Given the description of an element on the screen output the (x, y) to click on. 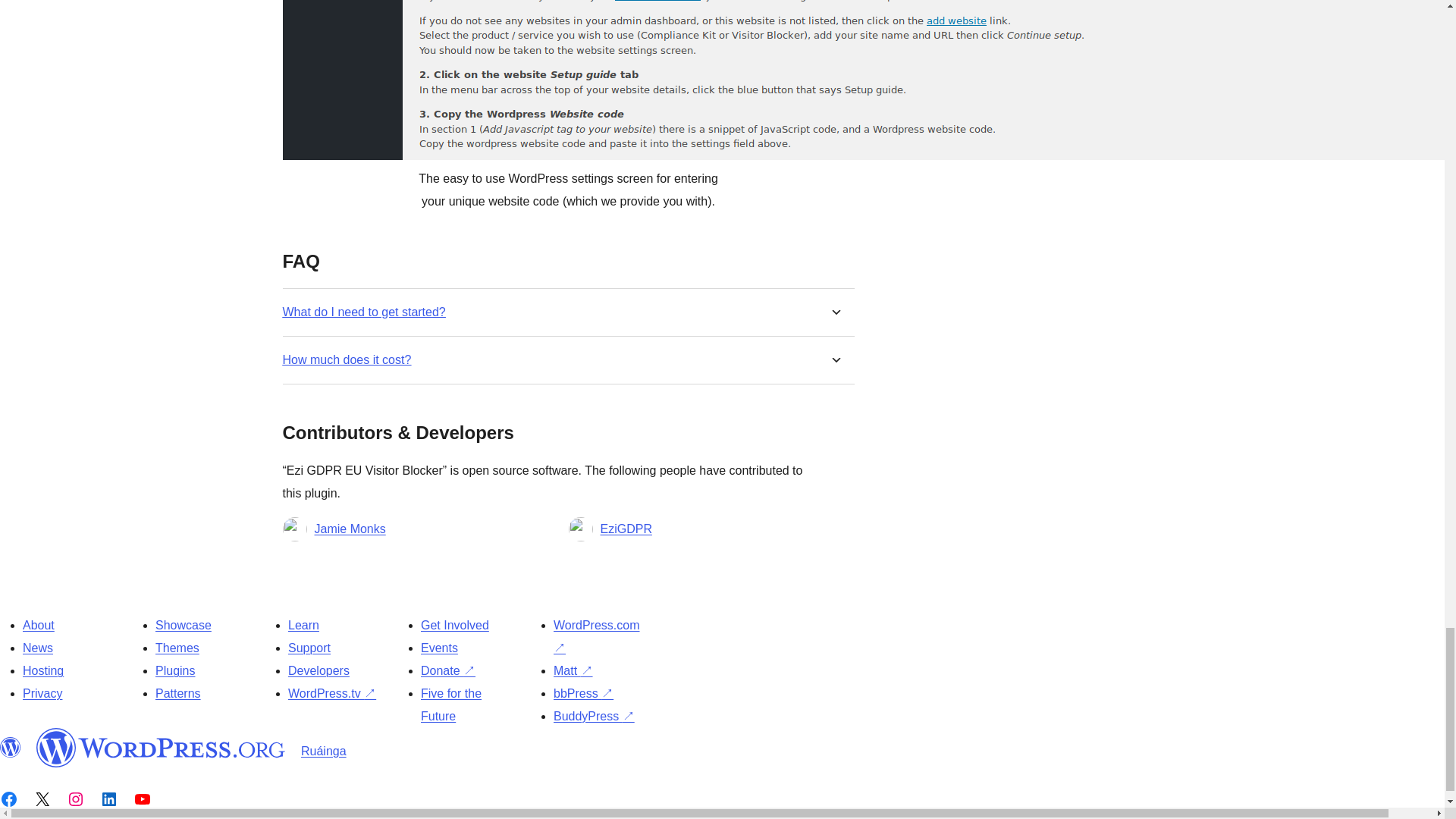
What do I need to get started? (363, 311)
Jamie Monks (349, 528)
WordPress.org (10, 747)
EziGDPR (625, 528)
How much does it cost? (346, 359)
WordPress.org (160, 747)
